Given the description of an element on the screen output the (x, y) to click on. 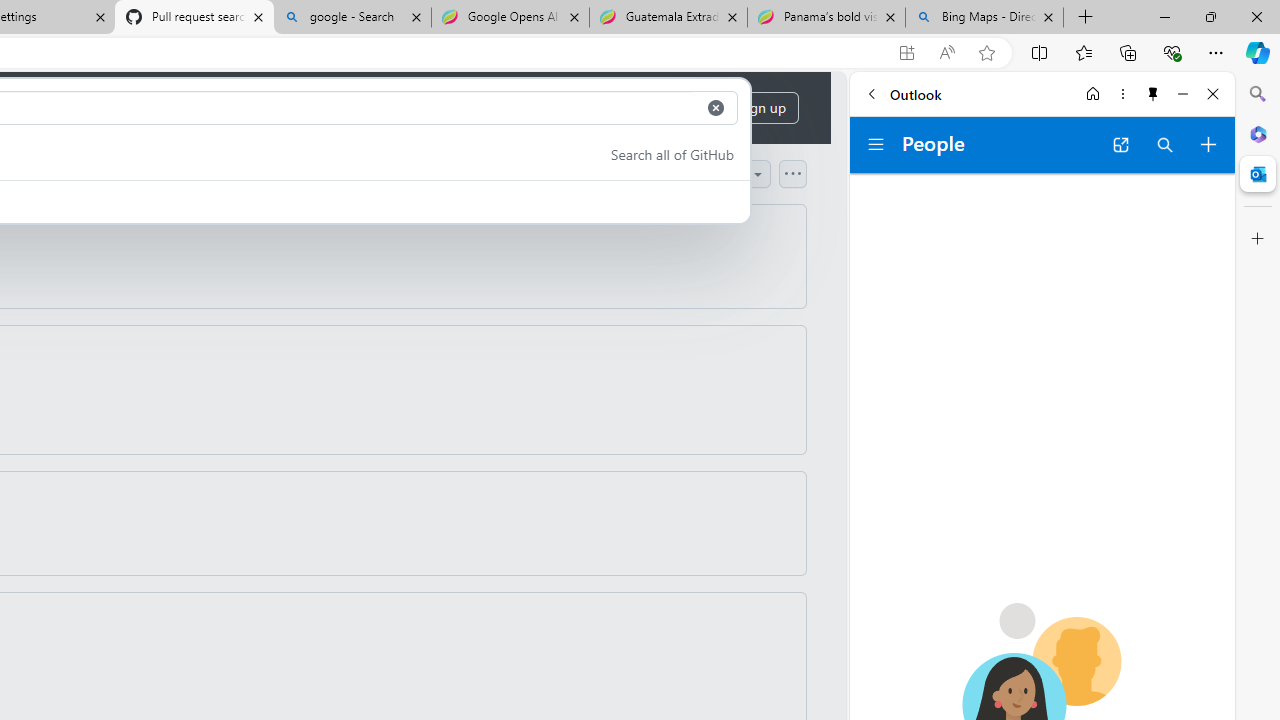
google - Search (352, 17)
Unpin side pane (1153, 93)
Sort by: Best match (700, 173)
Open column options (792, 173)
Sign up (761, 107)
Folder navigation (876, 144)
